Given the description of an element on the screen output the (x, y) to click on. 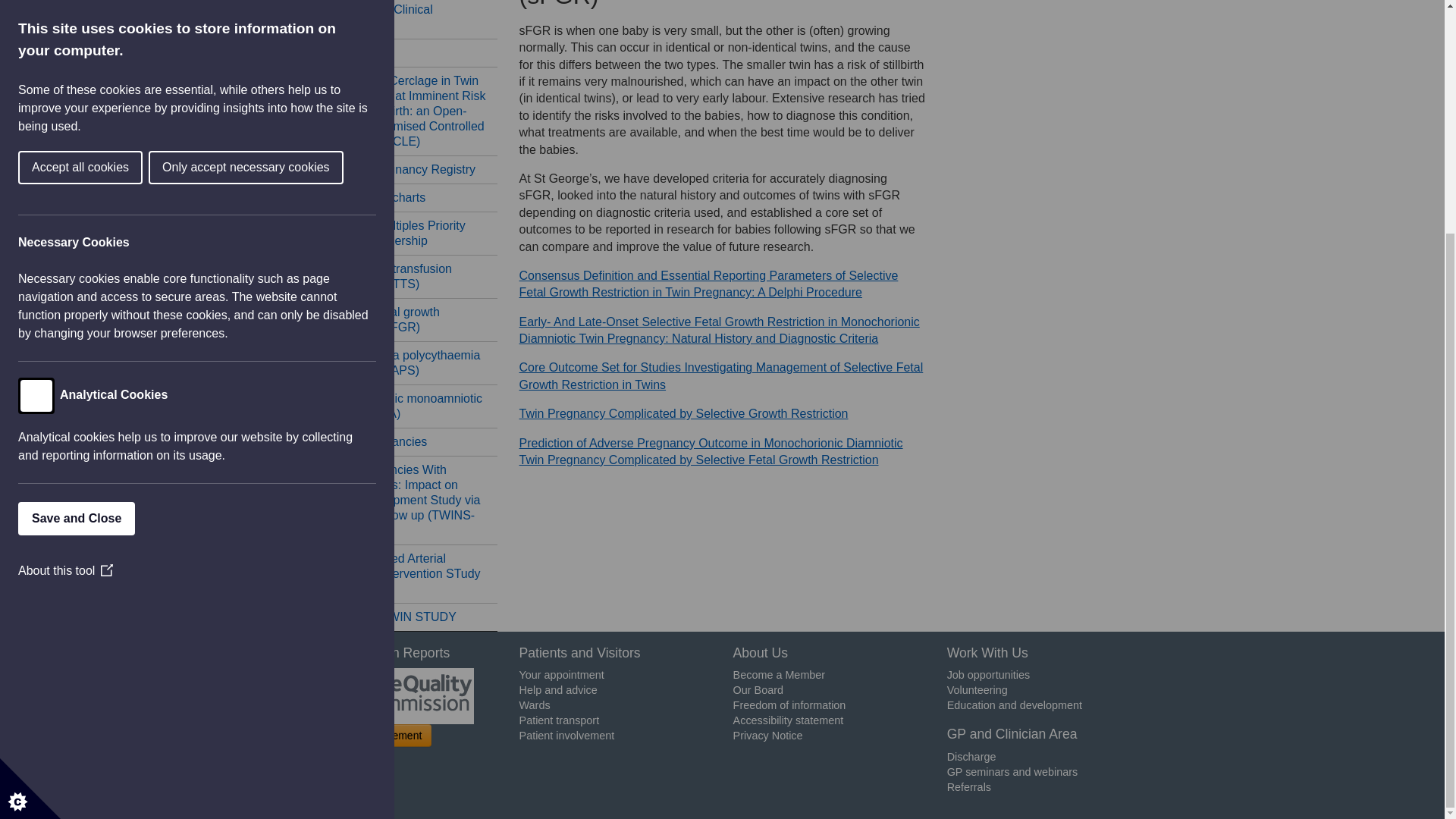
Research (400, 52)
Multiple Pregnancy Registry (400, 169)
Twins Trust Centre for Research and Clinical Excellence (400, 19)
